Given the description of an element on the screen output the (x, y) to click on. 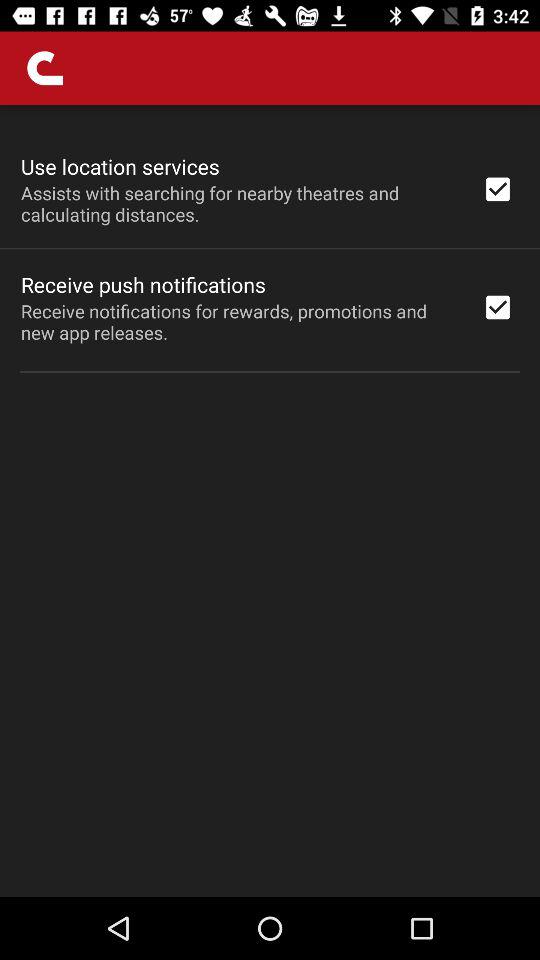
press use location services (120, 166)
